Given the description of an element on the screen output the (x, y) to click on. 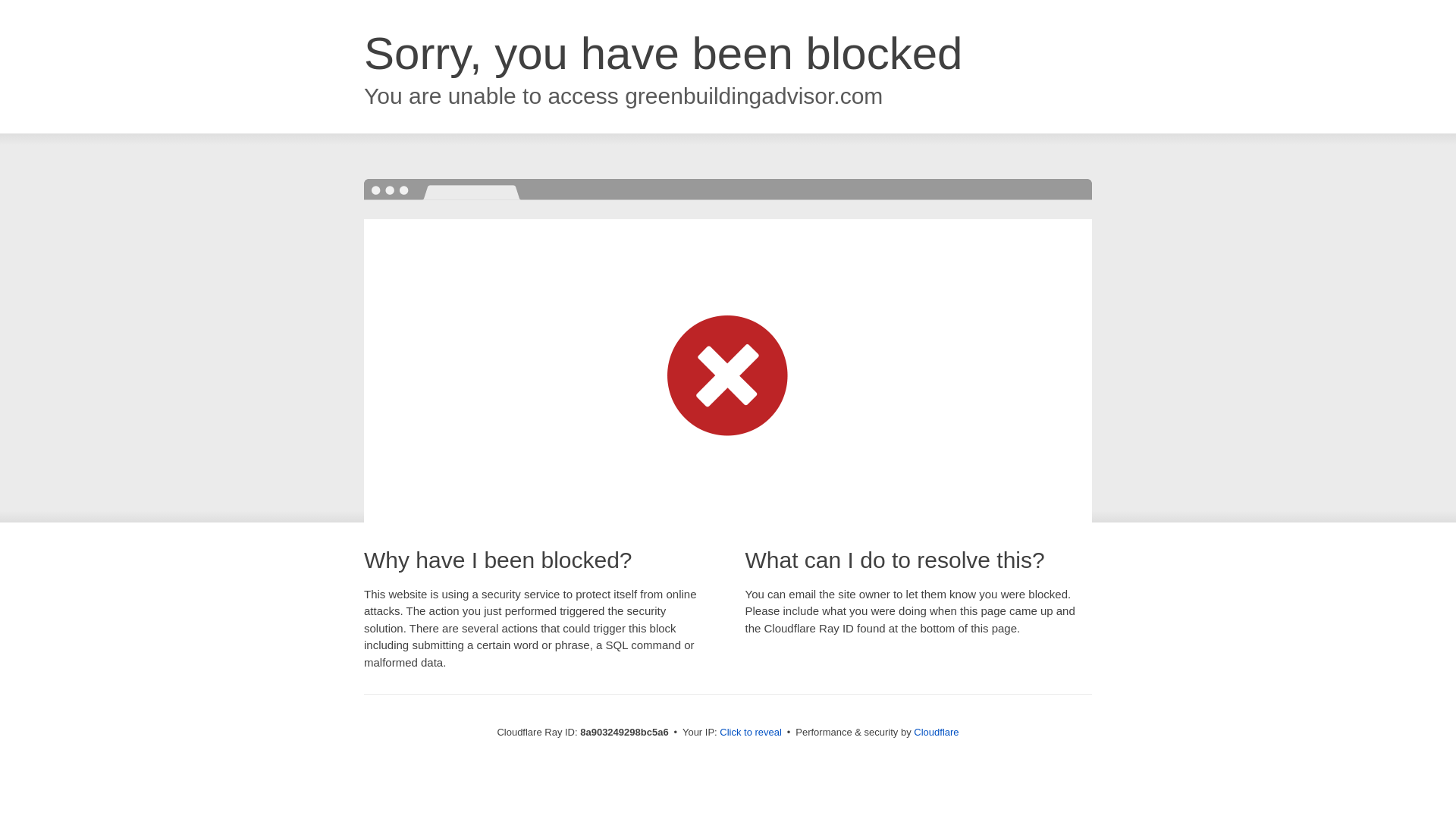
Cloudflare (936, 731)
Click to reveal (750, 732)
